Given the description of an element on the screen output the (x, y) to click on. 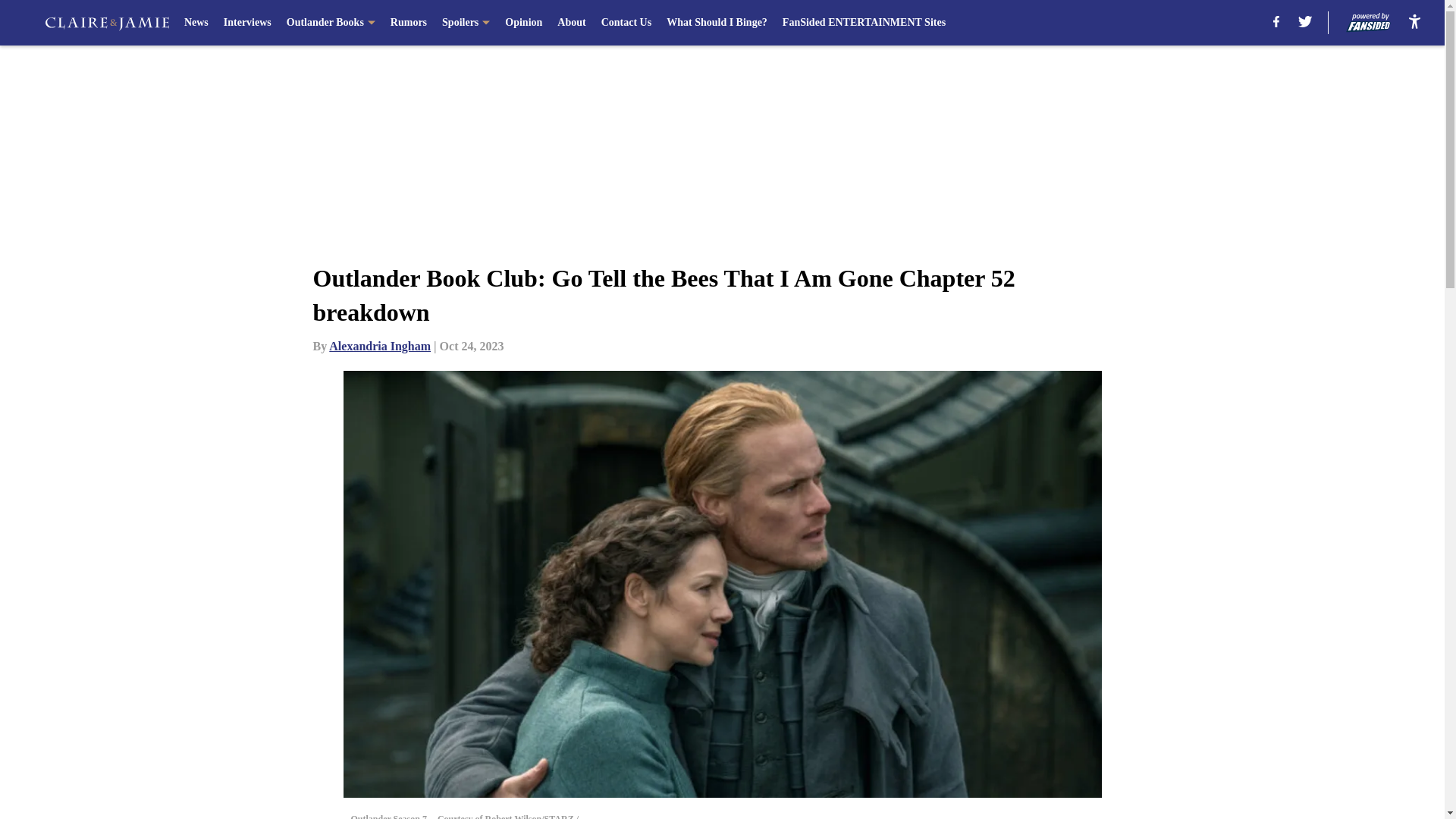
What Should I Binge? (716, 22)
Alexandria Ingham (379, 345)
Rumors (408, 22)
Opinion (523, 22)
Contact Us (626, 22)
FanSided ENTERTAINMENT Sites (863, 22)
Interviews (247, 22)
About (571, 22)
News (196, 22)
